Given the description of an element on the screen output the (x, y) to click on. 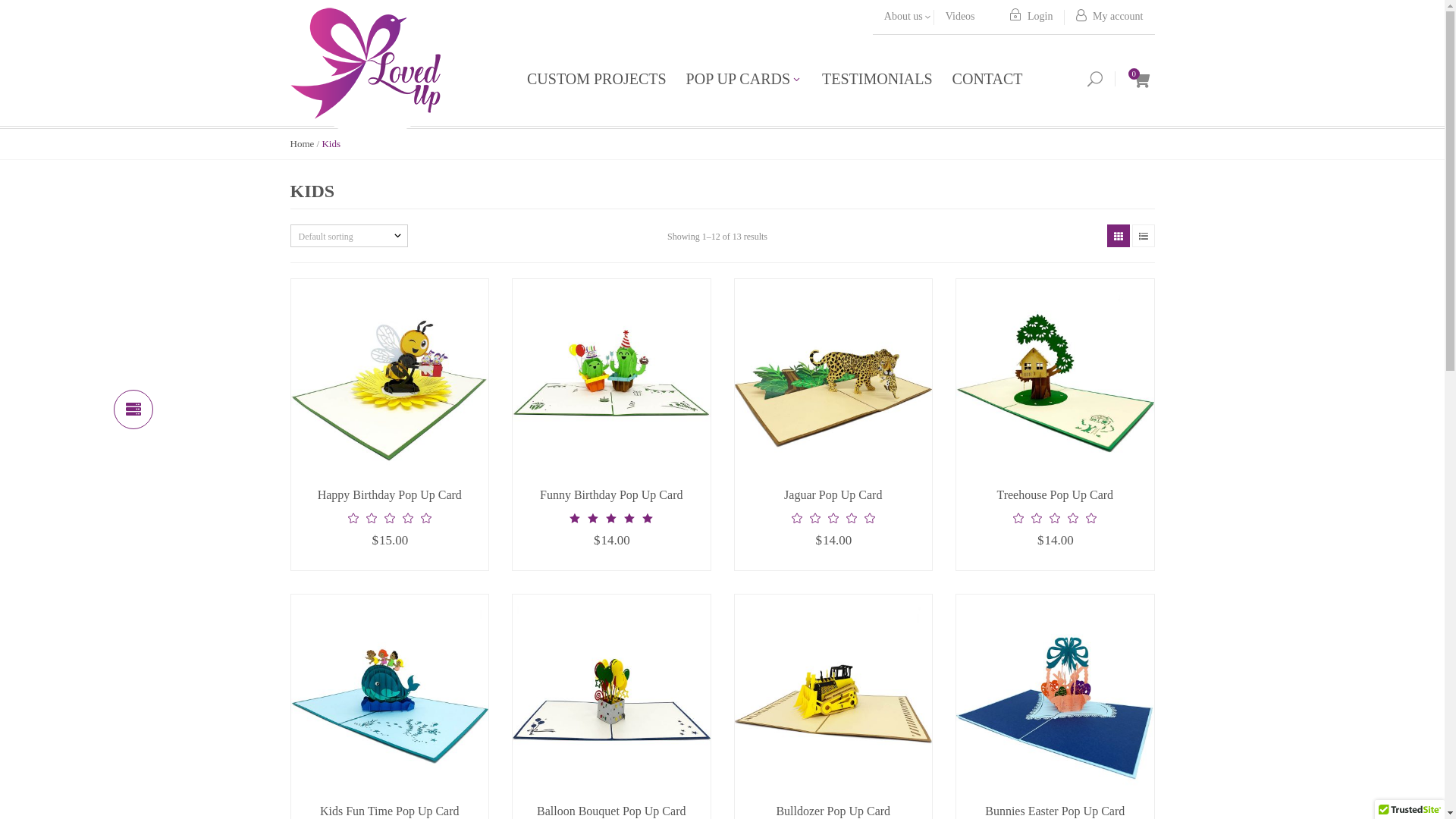
Grid Element type: hover (1117, 235)
LovedUp Element type: hover (365, 59)
Bulldozer Pop Up Card Element type: text (832, 810)
Kids Fun Time Pop Up Card Element type: text (389, 810)
Balloon Bouquet Pop Up Card Element type: text (610, 810)
Jaguar Pop Up Card Element type: text (832, 494)
Happy Birthday Pop Up Card Element type: text (389, 494)
TESTIMONIALS Element type: text (877, 79)
Login Element type: text (1030, 17)
Home Element type: text (301, 143)
CONTACT Element type: text (982, 79)
POP UP CARDS Element type: text (744, 79)
List Element type: hover (1143, 235)
CUSTOM PROJECTS Element type: text (601, 79)
My account Element type: text (1109, 17)
Treehouse Pop Up Card Element type: text (1054, 494)
Videos Element type: text (960, 15)
Bunnies Easter Pop Up Card Element type: text (1054, 810)
0 Element type: text (1132, 78)
Funny Birthday Pop Up Card Element type: text (610, 494)
About us Element type: text (903, 15)
